Given the description of an element on the screen output the (x, y) to click on. 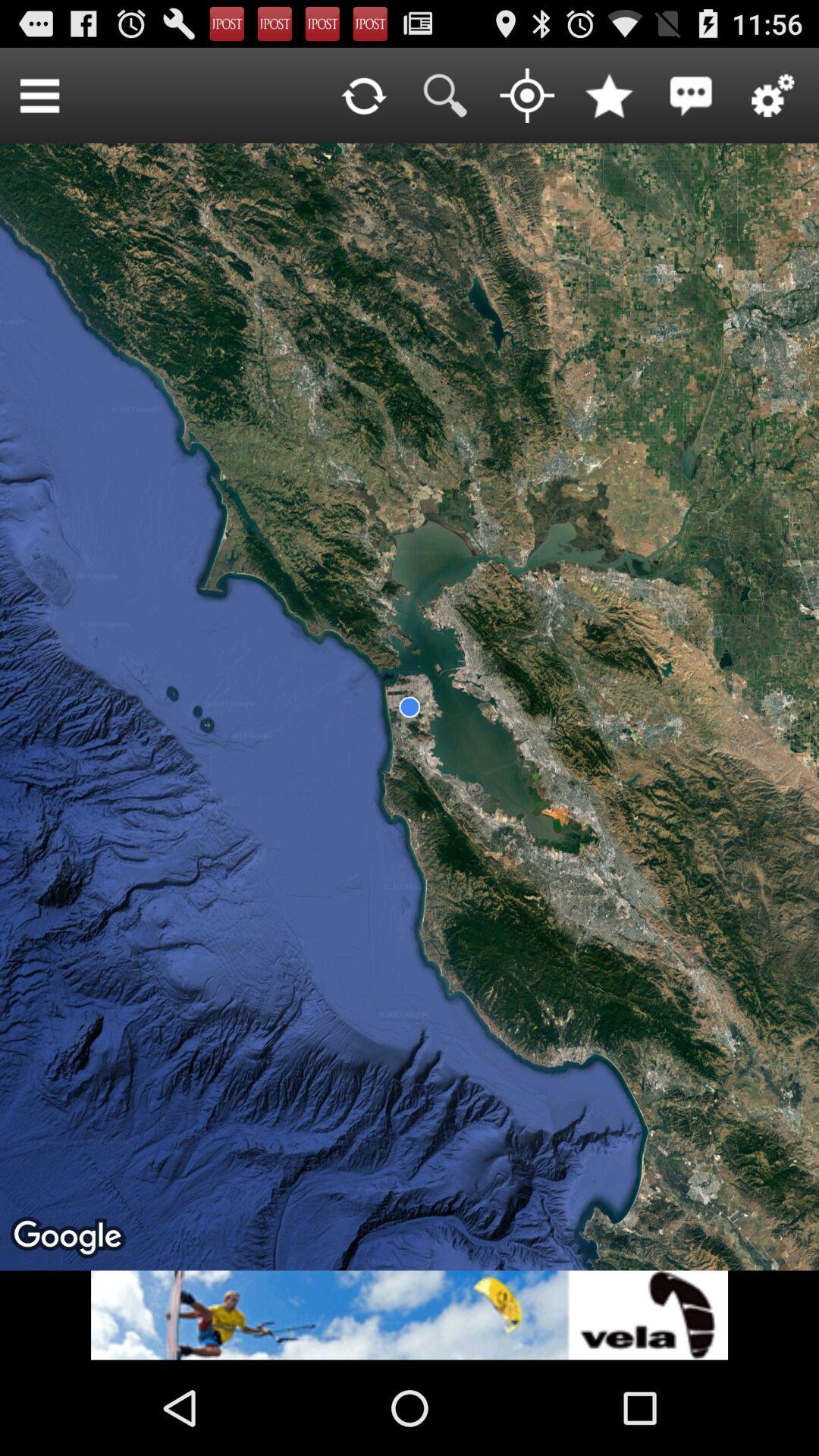
select the icon at the top left corner (39, 95)
